Given the description of an element on the screen output the (x, y) to click on. 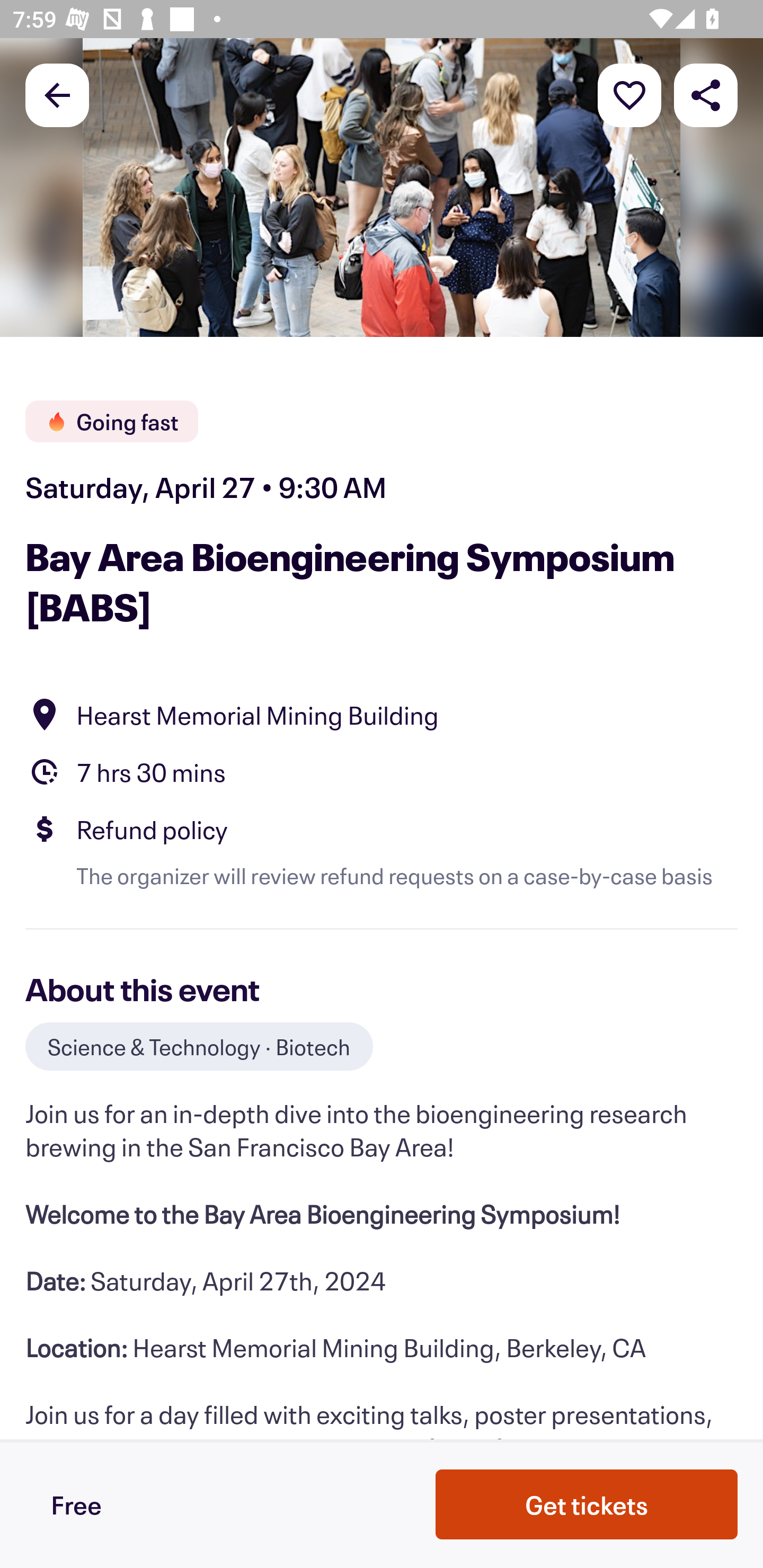
Back (57, 94)
More (629, 94)
Share (705, 94)
Location Hearst Memorial Mining Building (381, 713)
Get tickets (586, 1504)
